Given the description of an element on the screen output the (x, y) to click on. 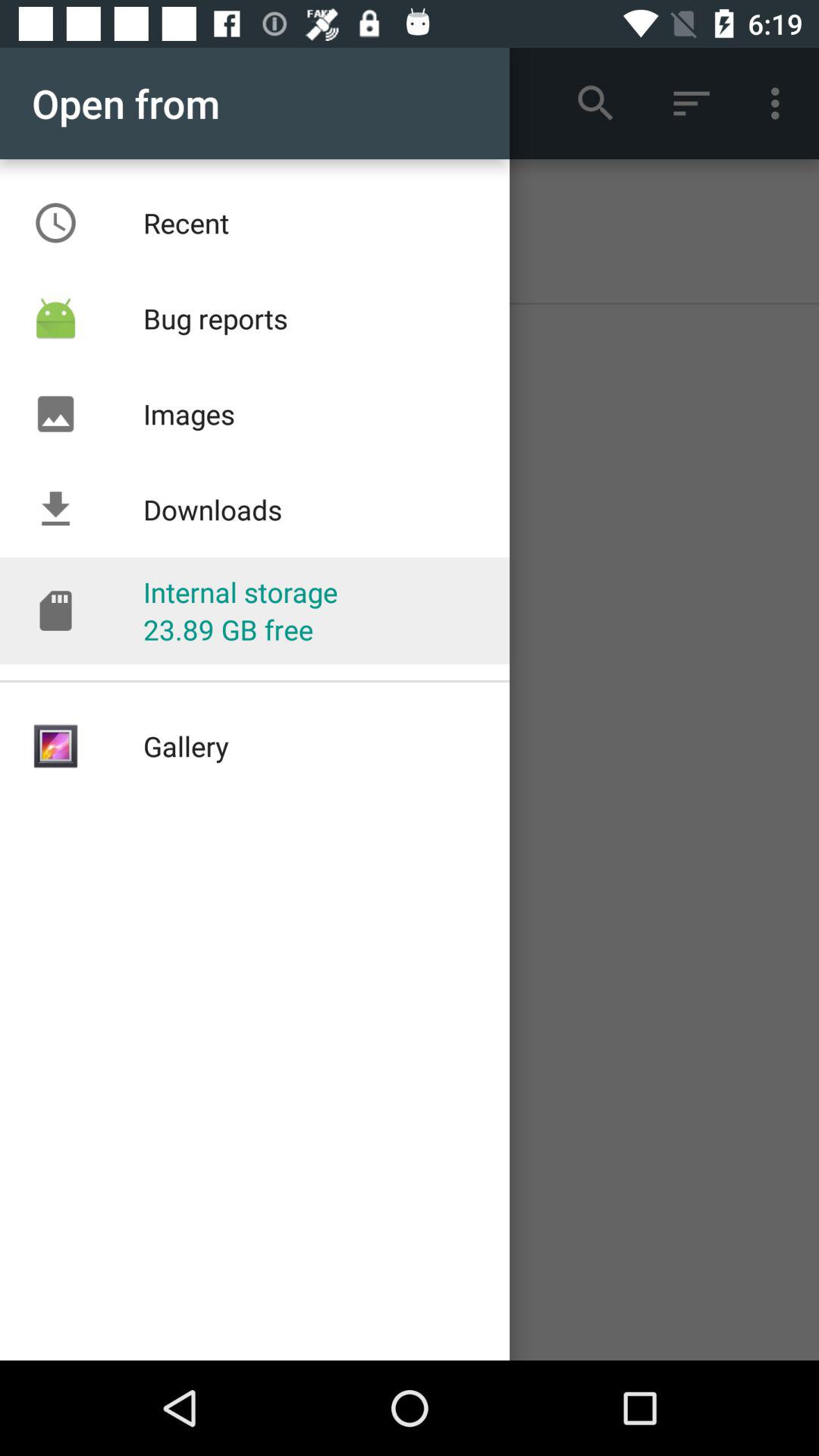
click on the search tool (595, 103)
select android icon which is before bug reports (55, 318)
